Given the description of an element on the screen output the (x, y) to click on. 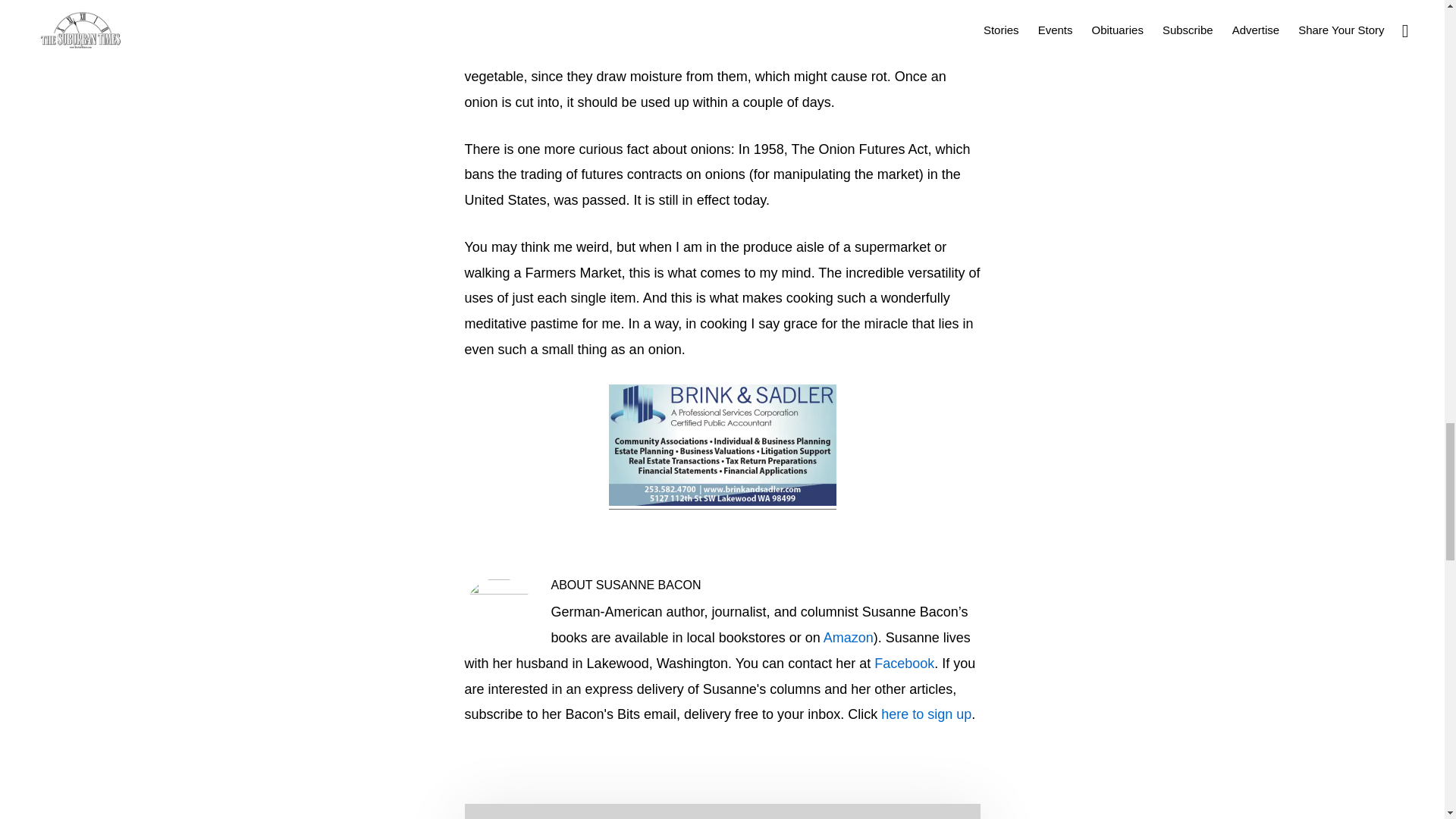
Amazon (848, 637)
here to sign up (925, 713)
Facebook (904, 663)
